Given the description of an element on the screen output the (x, y) to click on. 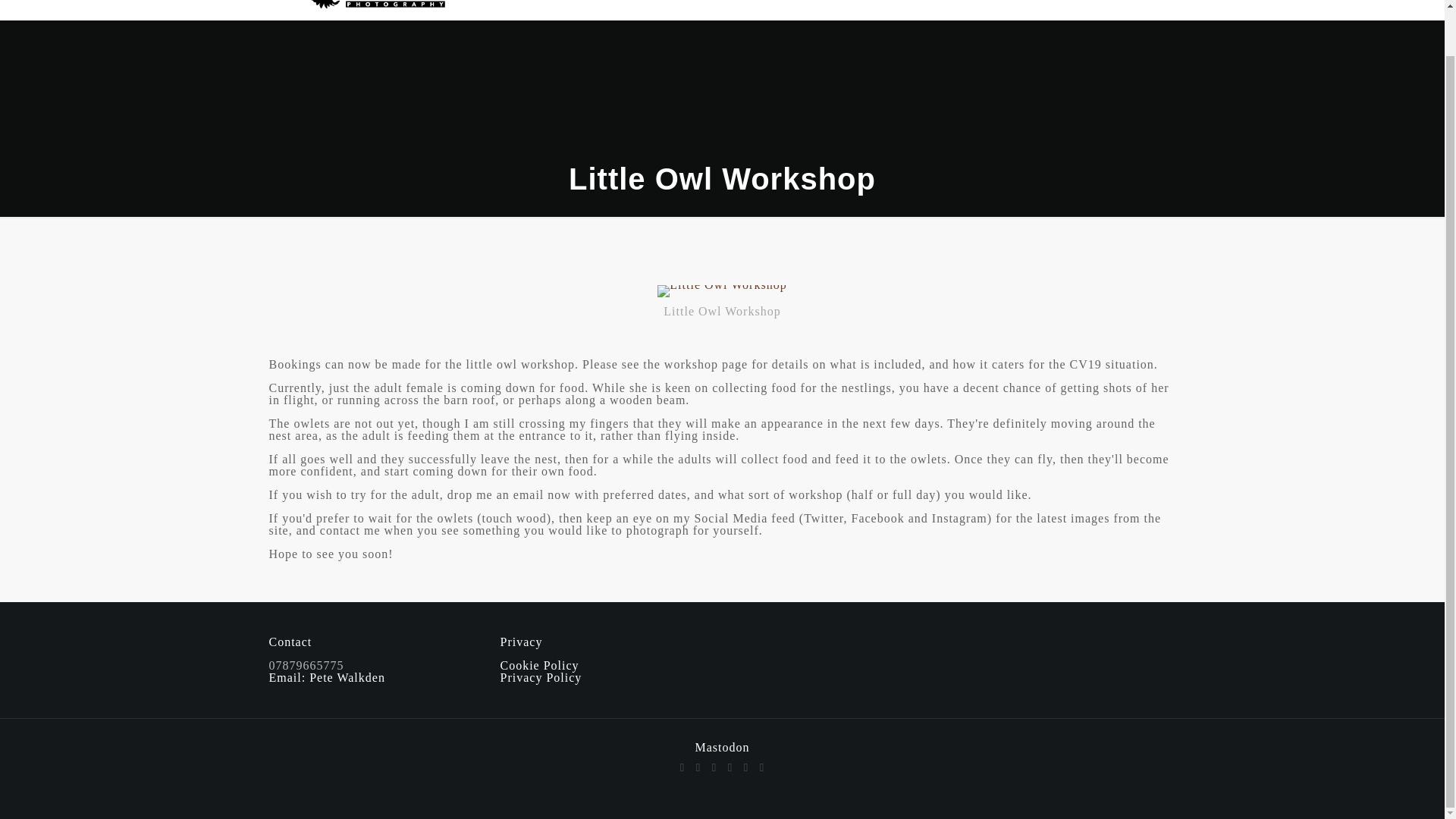
Instagram (745, 767)
Gallery (737, 9)
Home (670, 9)
Features (908, 9)
Facebook (682, 767)
Pete Walkden Photography (364, 9)
YouTube (713, 767)
Flickr (730, 767)
Workshops (820, 9)
